Given the description of an element on the screen output the (x, y) to click on. 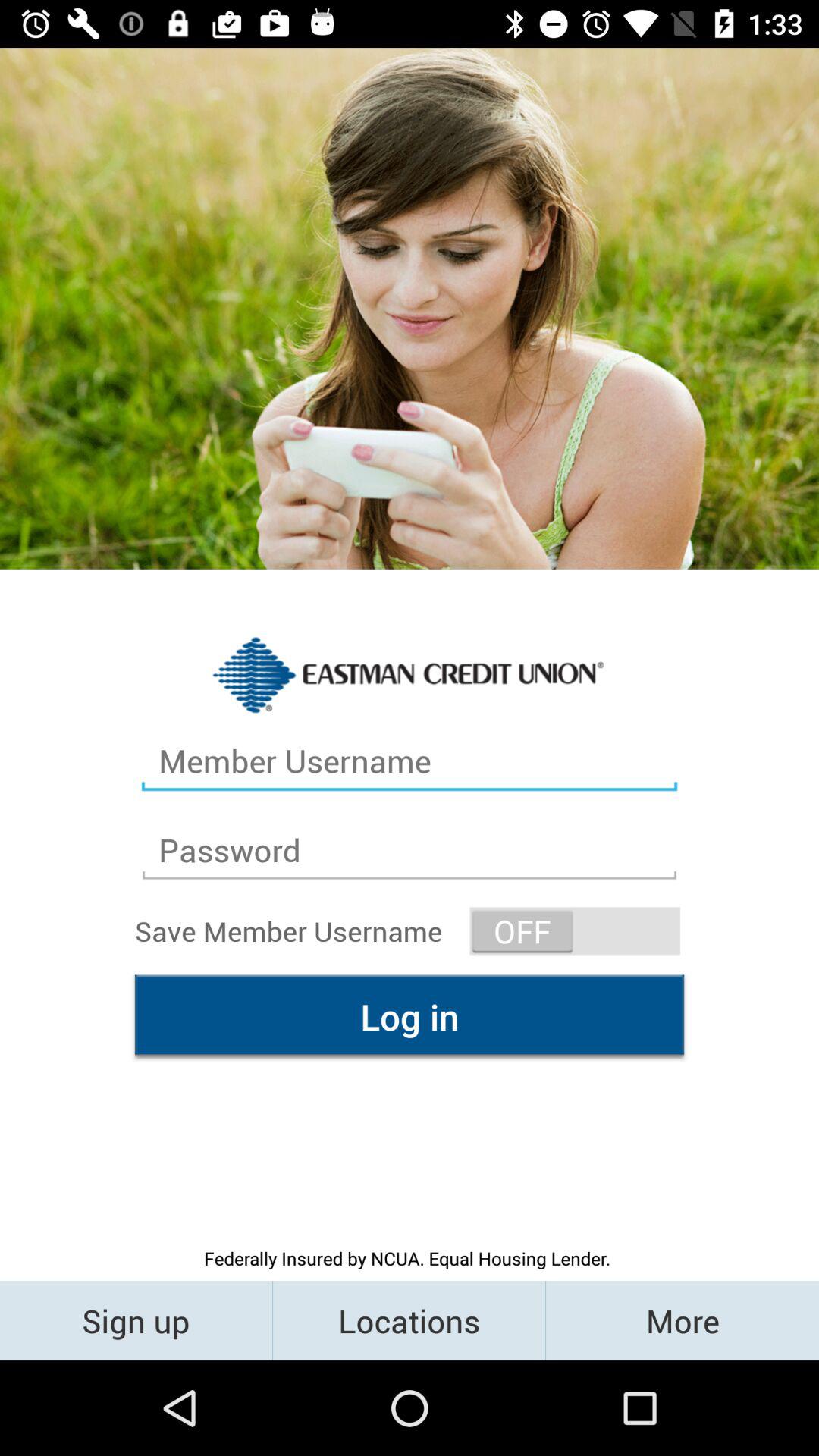
launch the icon above the federally insured by (409, 1016)
